Given the description of an element on the screen output the (x, y) to click on. 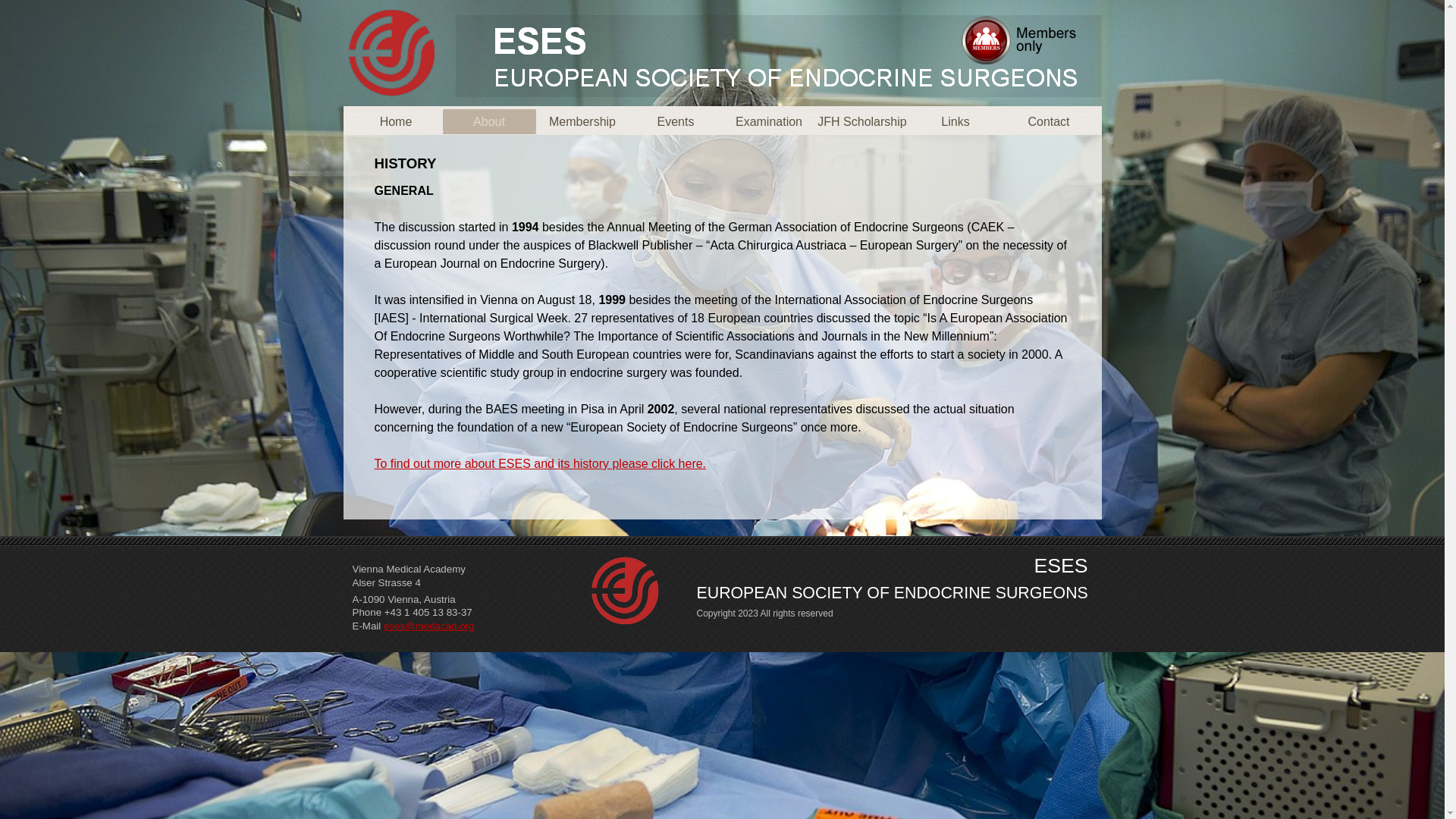
Links Element type: text (955, 121)
Contact Element type: text (1049, 121)
Examination Element type: text (768, 121)
eses@medacad.org Element type: text (428, 625)
Home Element type: text (395, 121)
